Given the description of an element on the screen output the (x, y) to click on. 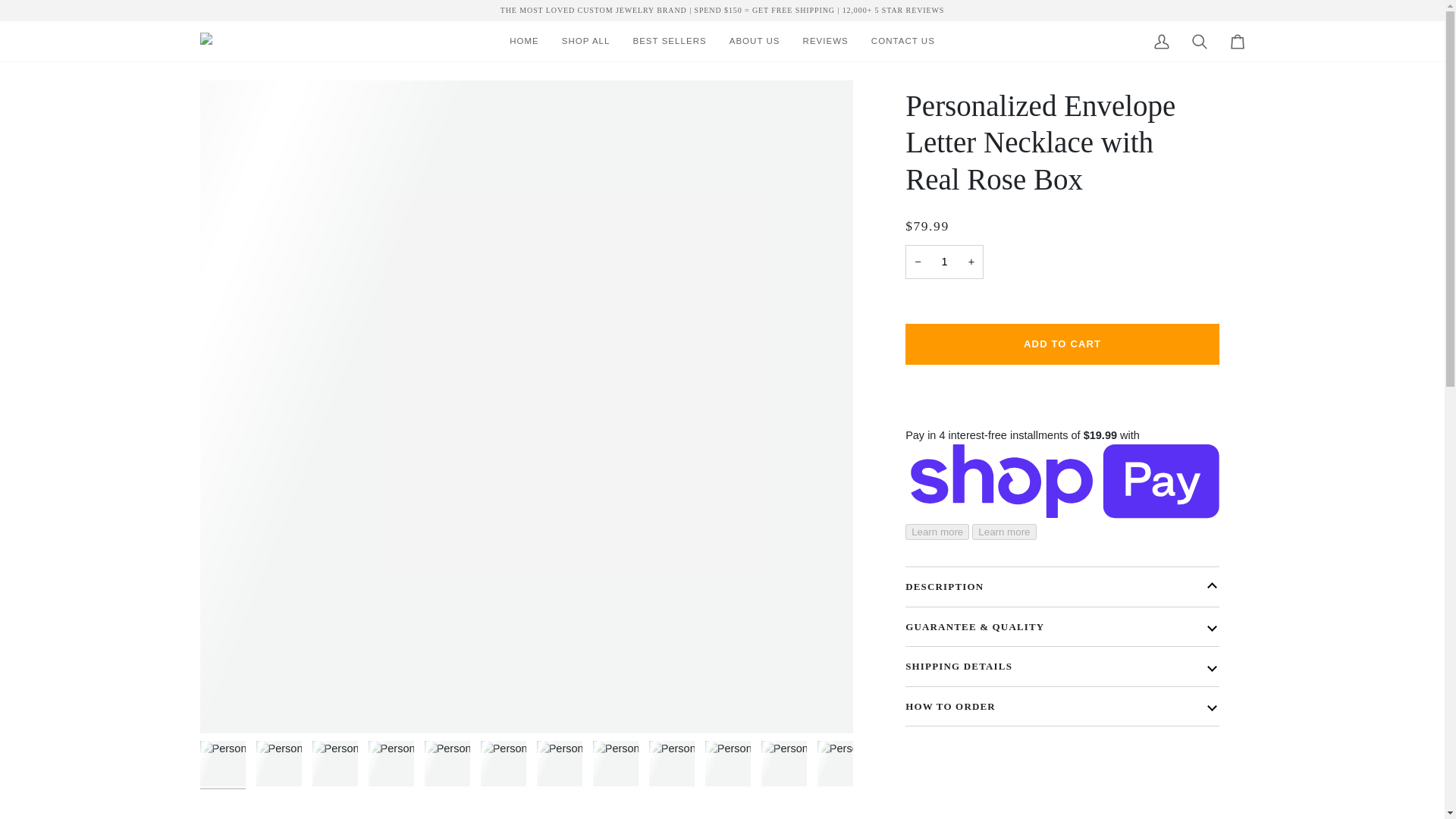
Cart (1236, 41)
Search (1198, 41)
My Account (1160, 41)
SHOP ALL (585, 41)
BEST SELLERS (669, 41)
HOME (523, 41)
CONTACT US (903, 41)
1 (944, 261)
ABOUT US (754, 41)
REVIEWS (826, 41)
